Given the description of an element on the screen output the (x, y) to click on. 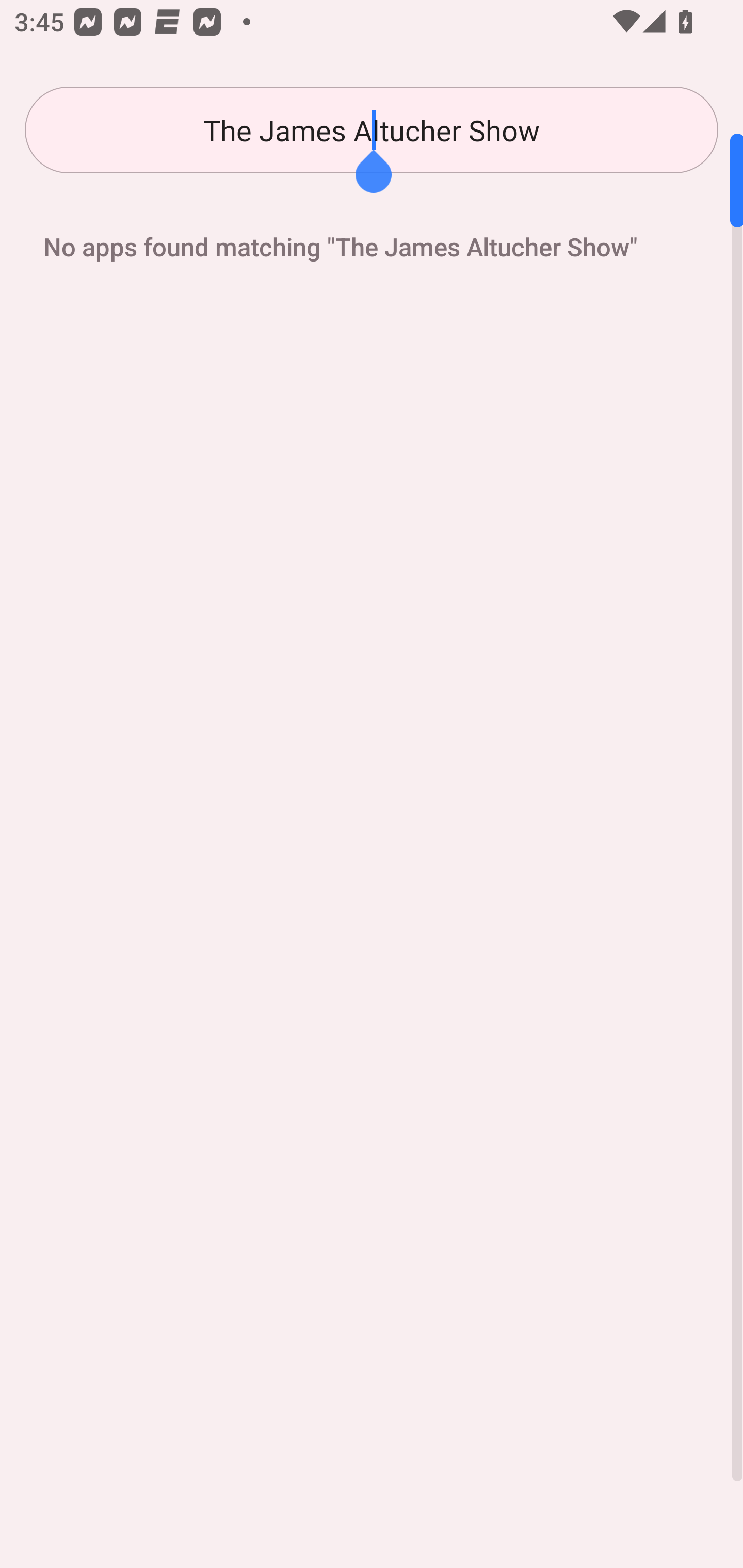
The James Altucher Show (371, 130)
